Given the description of an element on the screen output the (x, y) to click on. 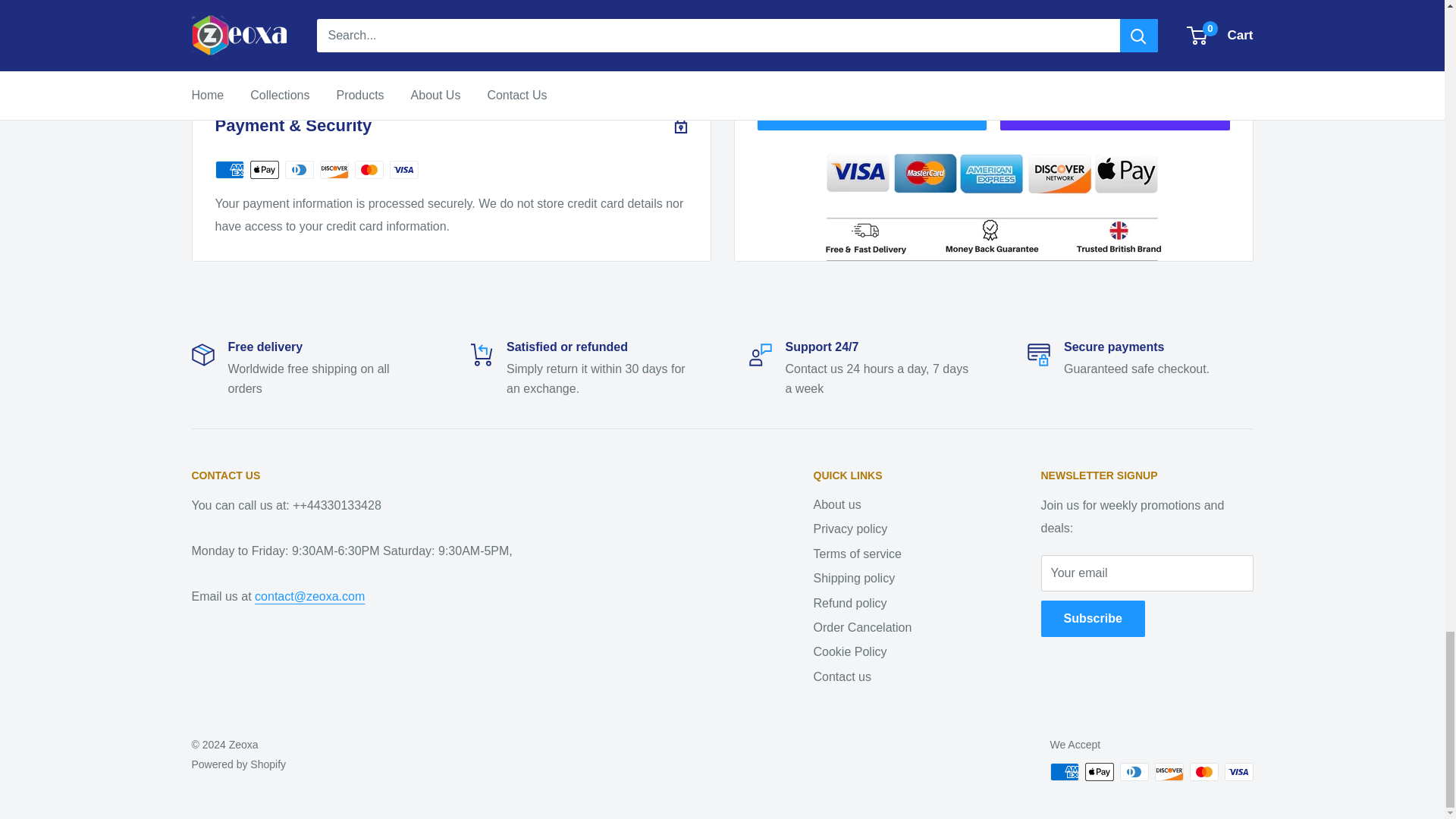
CONTACT US (475, 475)
